Given the description of an element on the screen output the (x, y) to click on. 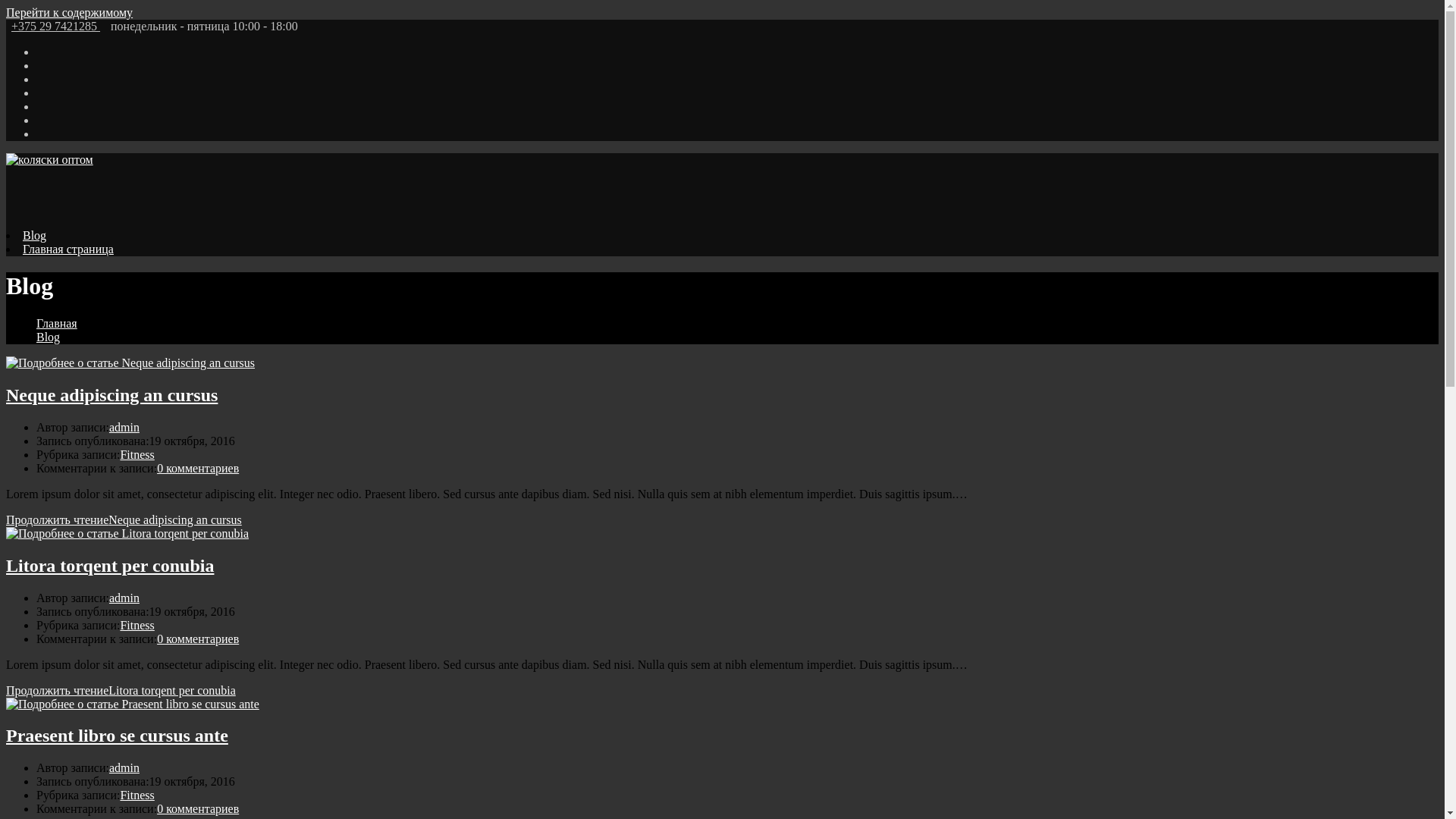
Litora torqent per conubia Element type: text (109, 565)
admin Element type: text (124, 767)
admin Element type: text (124, 597)
+375 29 7421285 Element type: text (55, 25)
Blog Element type: text (47, 336)
Neque adipiscing an cursus Element type: text (111, 394)
admin Element type: text (124, 426)
Fitness Element type: text (136, 454)
Blog Element type: text (34, 235)
Fitness Element type: text (136, 794)
Fitness Element type: text (136, 624)
Praesent libro se cursus ante Element type: text (117, 735)
